Given the description of an element on the screen output the (x, y) to click on. 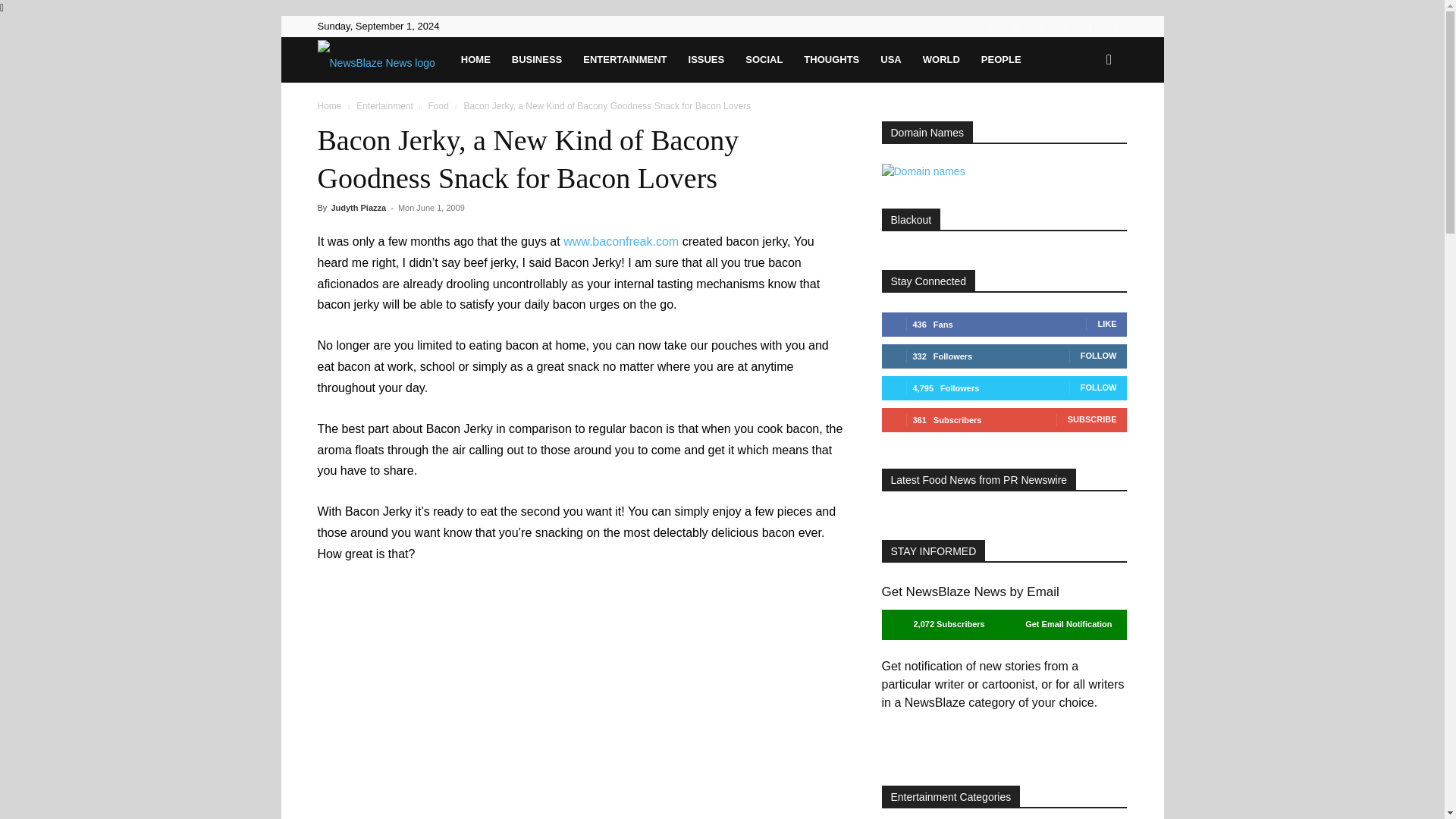
Youtube (1114, 26)
Facebook (989, 26)
Pinterest (1040, 26)
Twitter (1065, 26)
NewsBlaze News logo (375, 60)
Linkedin (1015, 26)
Vimeo (1090, 26)
